Given the description of an element on the screen output the (x, y) to click on. 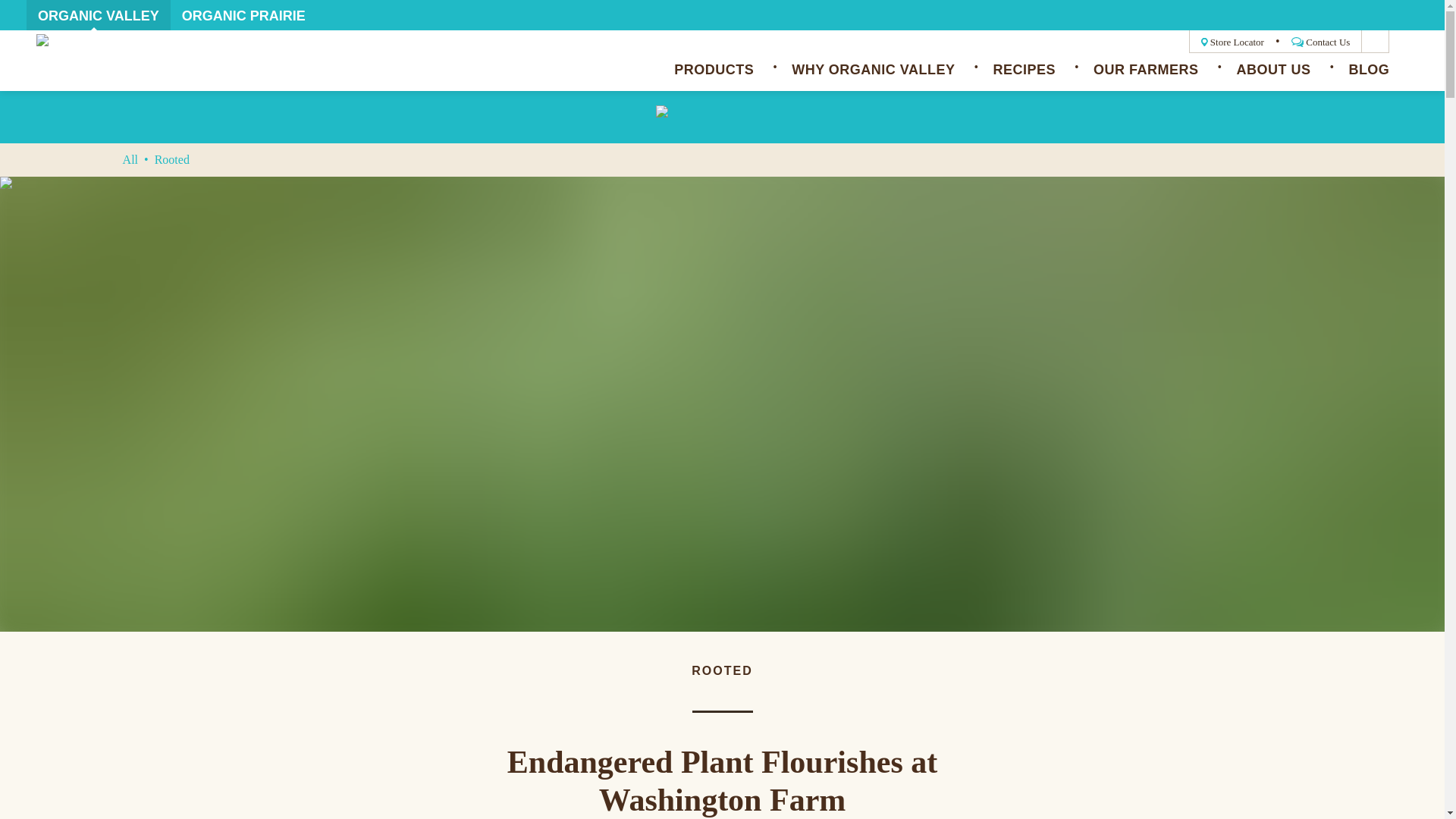
RECIPES (1023, 78)
Search (1375, 41)
PRODUCTS (714, 78)
ABOUT US (1273, 78)
WHY ORGANIC VALLEY (873, 78)
ORGANIC PRAIRIE (243, 15)
Contact Us (1321, 41)
OUR FARMERS (1145, 78)
BLOG (1368, 78)
Store Locator (1232, 41)
ORGANIC VALLEY (97, 15)
